Given the description of an element on the screen output the (x, y) to click on. 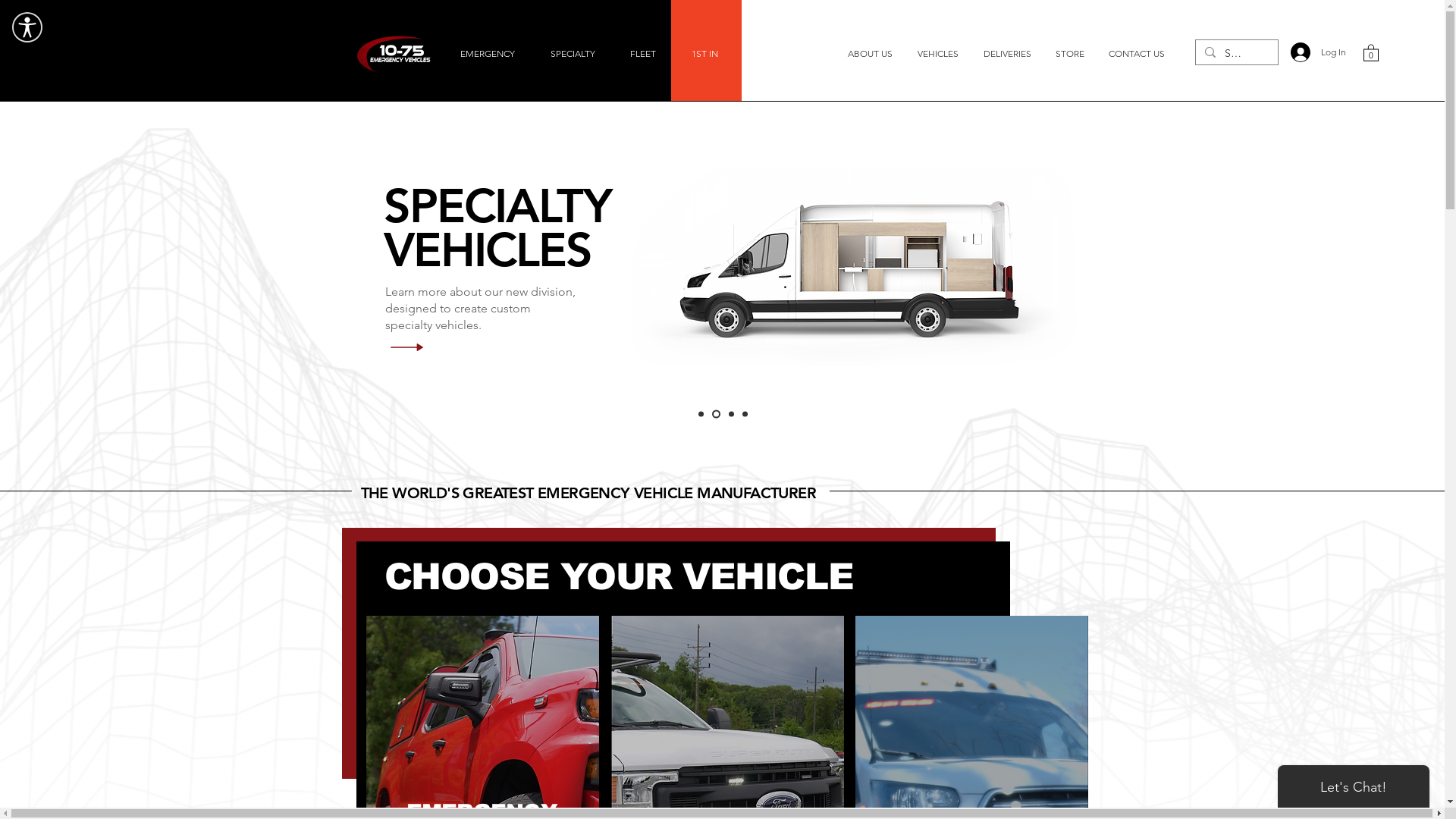
1ST IN Element type: text (705, 53)
Wix Chat Element type: hover (1357, 782)
FLEET Element type: text (643, 53)
SPECIALTY Element type: text (572, 53)
VEHICLES Element type: text (938, 53)
EMERGENCY Element type: text (487, 53)
ABOUT US Element type: text (870, 53)
Log In Element type: text (1313, 51)
STORE Element type: text (1069, 53)
DELIVERIES Element type: text (1008, 53)
CONTACT US Element type: text (1136, 53)
0 Element type: text (1370, 52)
